Given the description of an element on the screen output the (x, y) to click on. 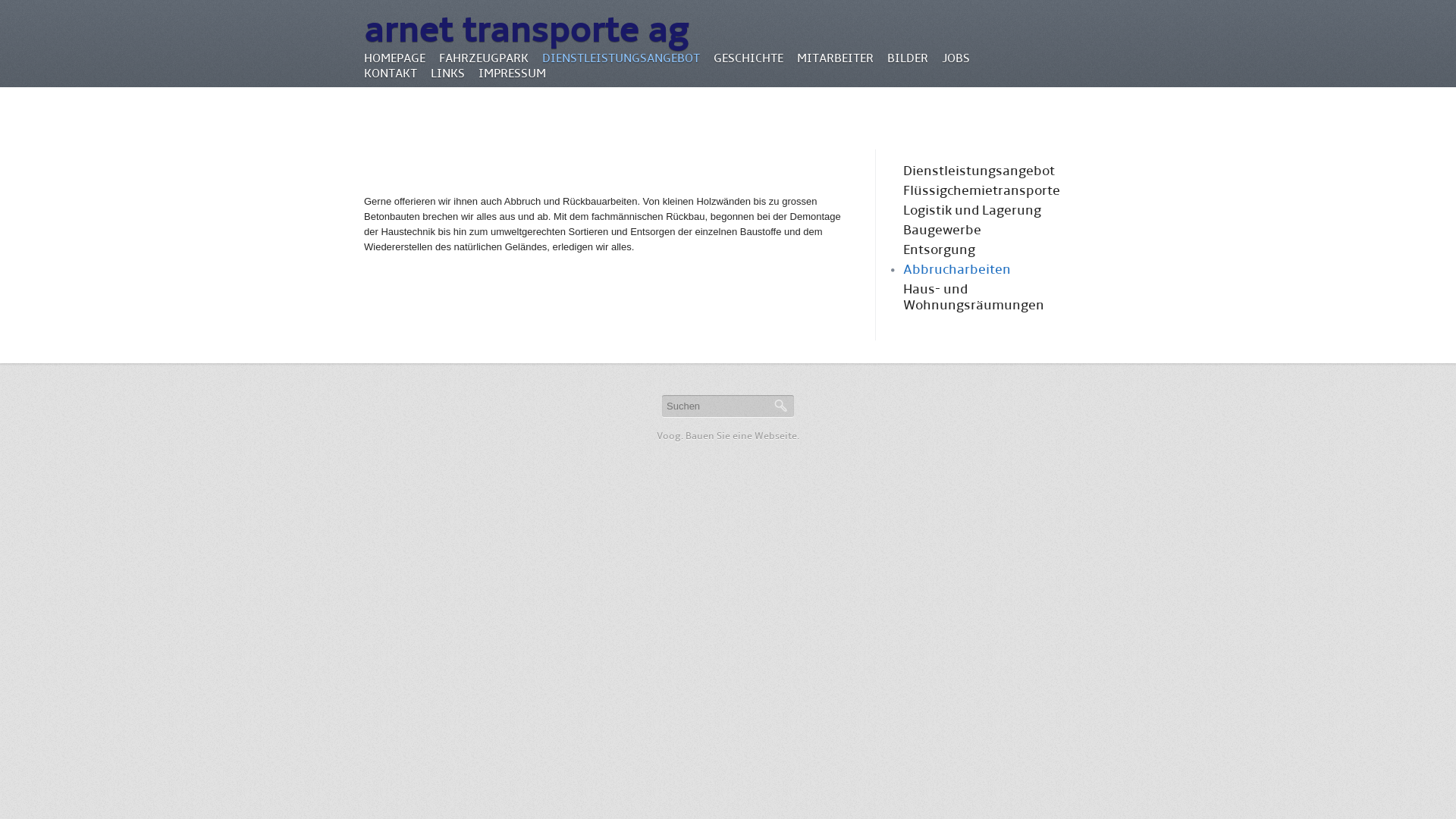
FAHRZEUGPARK Element type: text (483, 57)
IMPRESSUM Element type: text (512, 73)
JOBS Element type: text (955, 57)
MITARBEITER Element type: text (835, 57)
Entsorgung Element type: text (939, 249)
Logistik und Lagerung Element type: text (972, 210)
Dienstleistungsangebot Element type: text (978, 170)
GESCHICHTE Element type: text (748, 57)
BILDER Element type: text (907, 57)
HOMEPAGE Element type: text (394, 57)
Abbrucharbeiten Element type: text (956, 269)
Baugewerbe Element type: text (942, 230)
LINKS Element type: text (447, 73)
DIENSTLEISTUNGSANGEBOT Element type: text (620, 57)
Voog. Bauen Sie eine Webseite. Element type: text (727, 435)
KONTAKT Element type: text (390, 73)
